Given the description of an element on the screen output the (x, y) to click on. 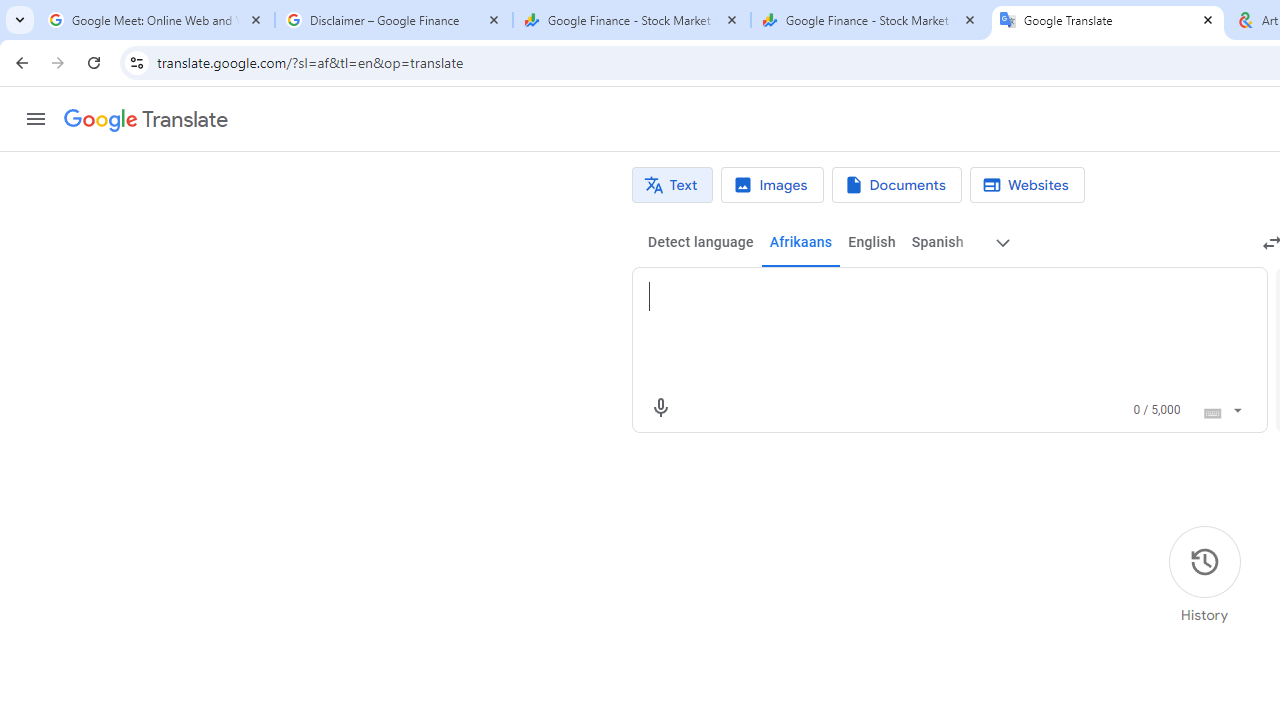
0 of 5,000 characters used (1156, 410)
Detect language (699, 242)
Main menu (35, 119)
Document translation (896, 185)
History (1204, 575)
Afrikaans (800, 242)
Source text (930, 295)
Image translation (772, 185)
Text translation (672, 185)
Google Translate (145, 120)
